Given the description of an element on the screen output the (x, y) to click on. 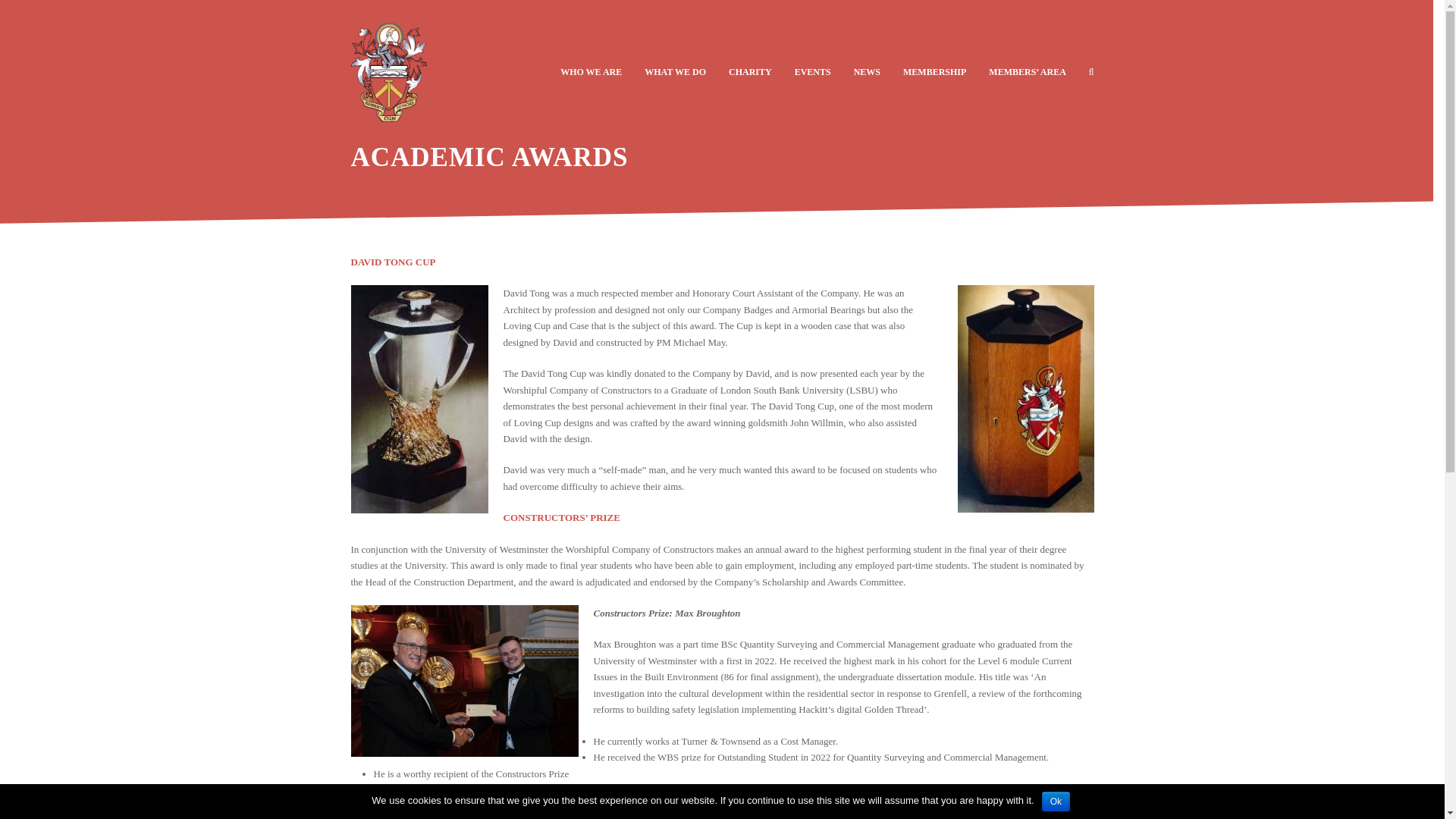
WCC (388, 71)
CHARITY (750, 71)
WHAT WE DO (675, 71)
WHO WE ARE (590, 71)
EVENTS (813, 71)
